Given the description of an element on the screen output the (x, y) to click on. 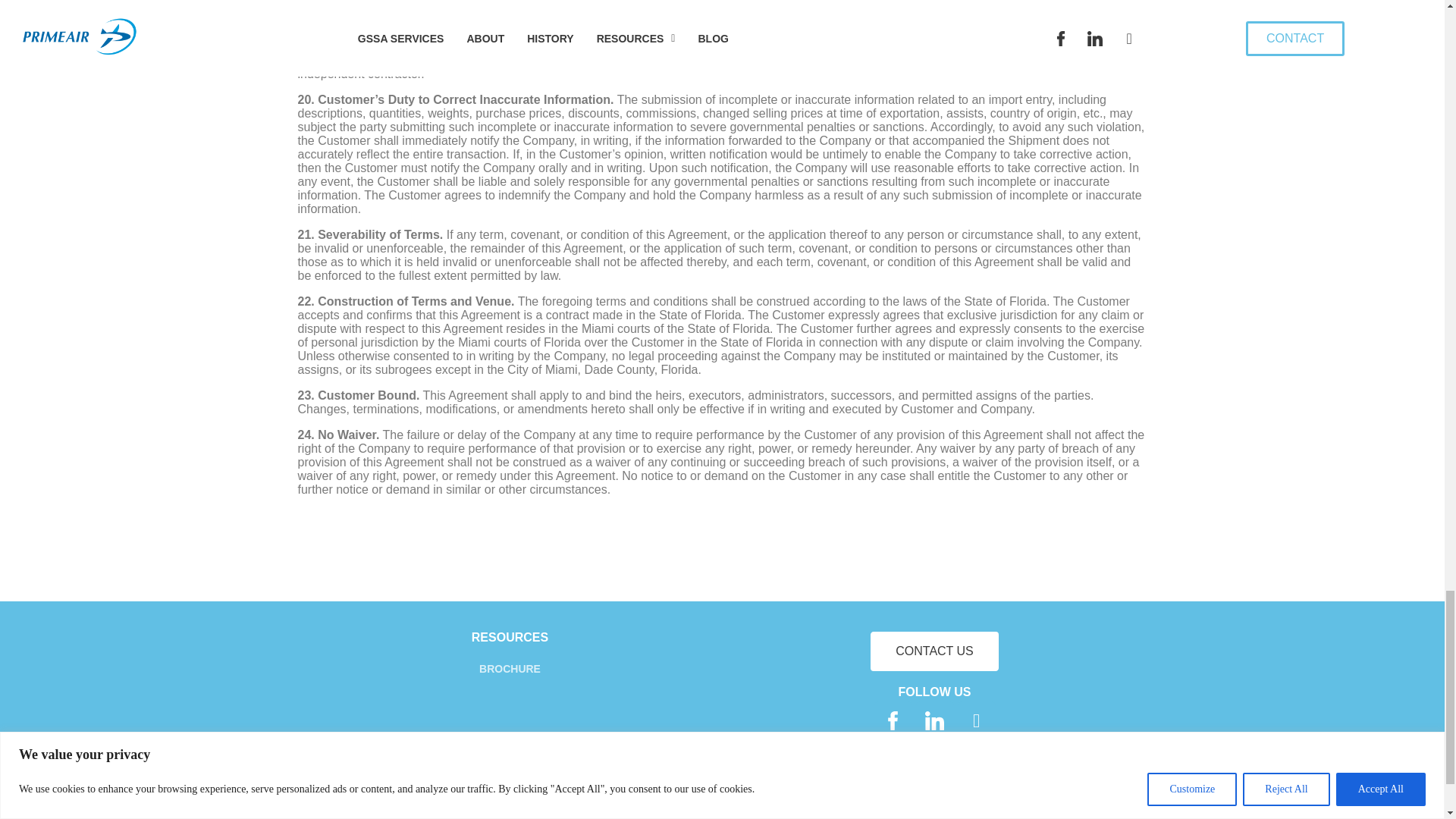
PrimeGroup-White (663, 784)
CONTACT US (934, 650)
BROCHURE (509, 668)
